Given the description of an element on the screen output the (x, y) to click on. 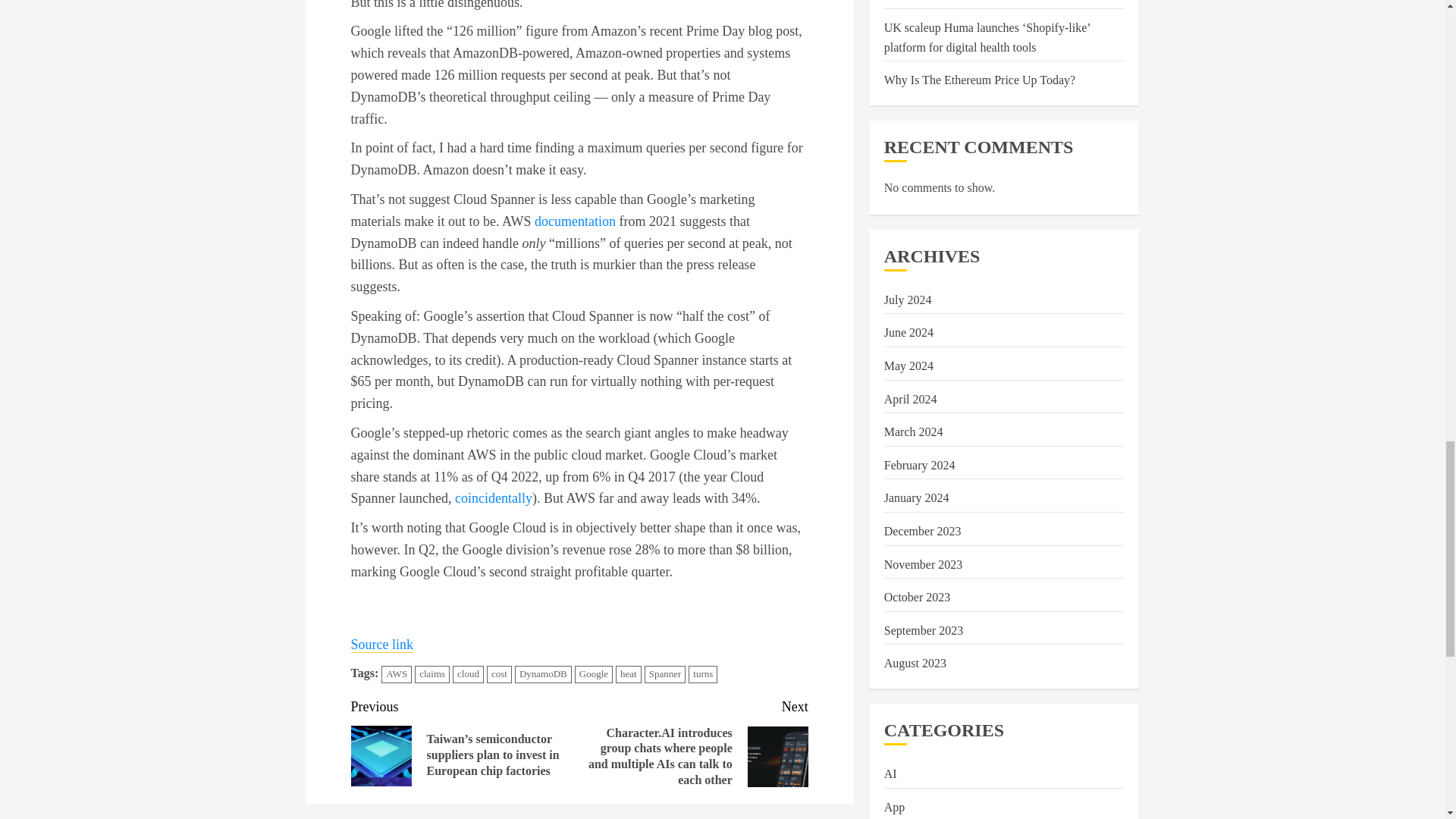
Google (593, 674)
Spanner (665, 674)
cloud (467, 674)
documentation (574, 221)
heat (628, 674)
turns (702, 674)
AWS (396, 674)
Source link (381, 644)
cost (499, 674)
DynamoDB (543, 674)
coincidentally (493, 498)
claims (431, 674)
